Given the description of an element on the screen output the (x, y) to click on. 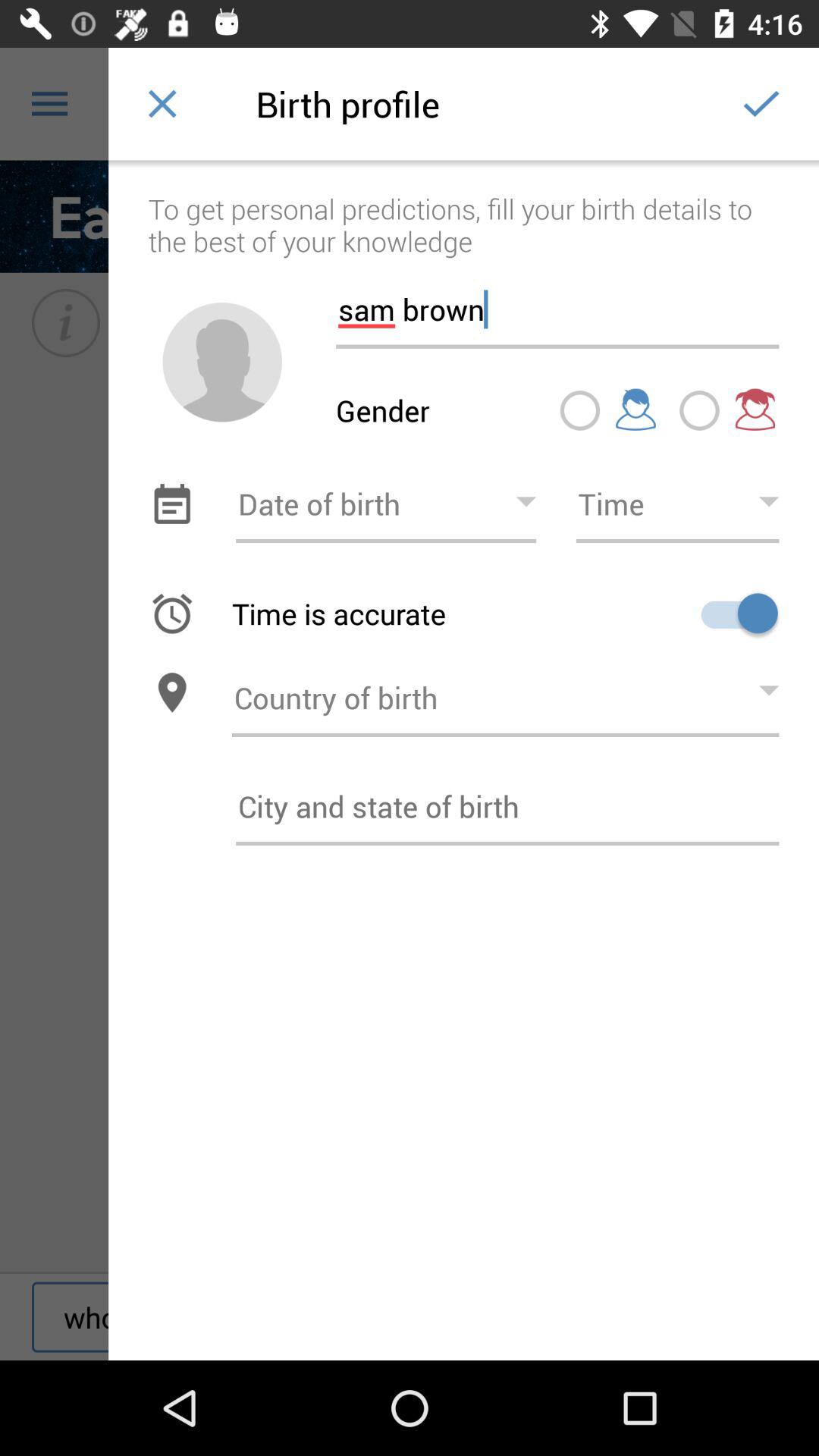
city detailt to enter (507, 806)
